Given the description of an element on the screen output the (x, y) to click on. 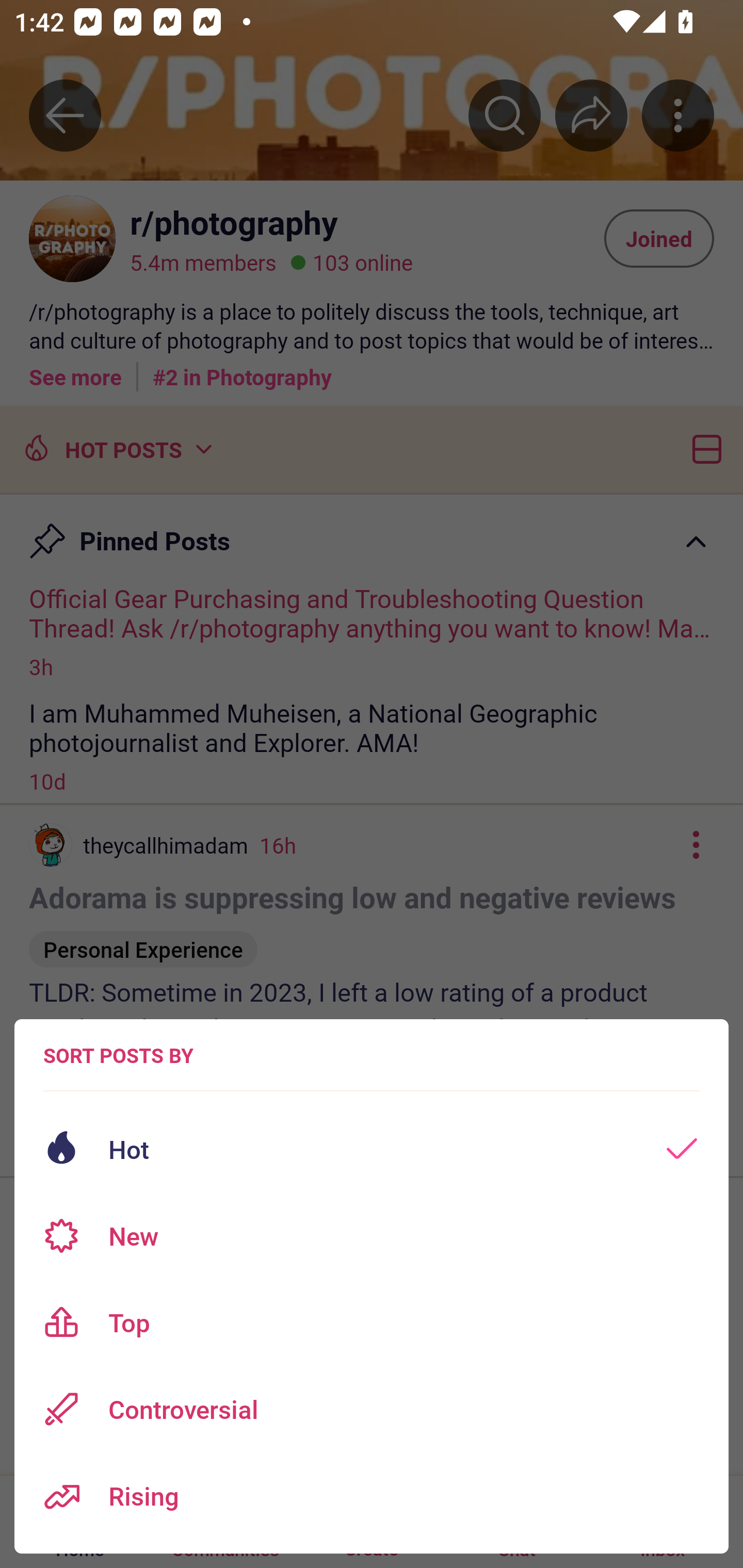
SORT POSTS BY Sort posts options (118, 1055)
Hot (371, 1149)
New (371, 1236)
Top (371, 1322)
Controversial (371, 1408)
Rising (371, 1495)
